Given the description of an element on the screen output the (x, y) to click on. 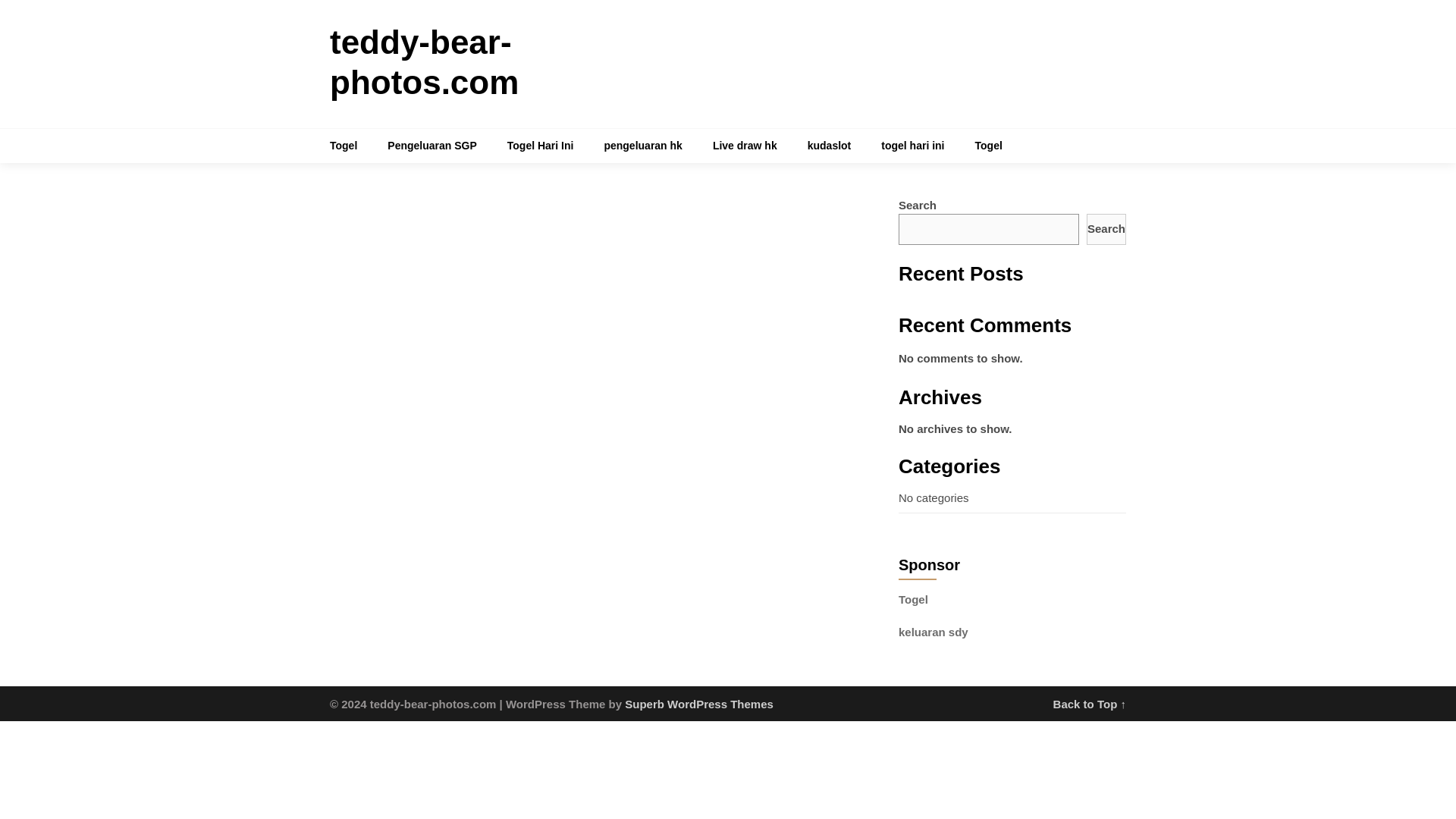
Search (1105, 228)
togel hari ini (912, 145)
kudaslot (829, 145)
Superb WordPress Themes (698, 703)
pengeluaran hk (642, 145)
Togel (351, 145)
keluaran sdy (933, 631)
Pengeluaran SGP (432, 145)
Togel Hari Ini (540, 145)
teddy-bear-photos.com (424, 61)
Togel (988, 145)
Togel (913, 599)
Live draw hk (744, 145)
